Given the description of an element on the screen output the (x, y) to click on. 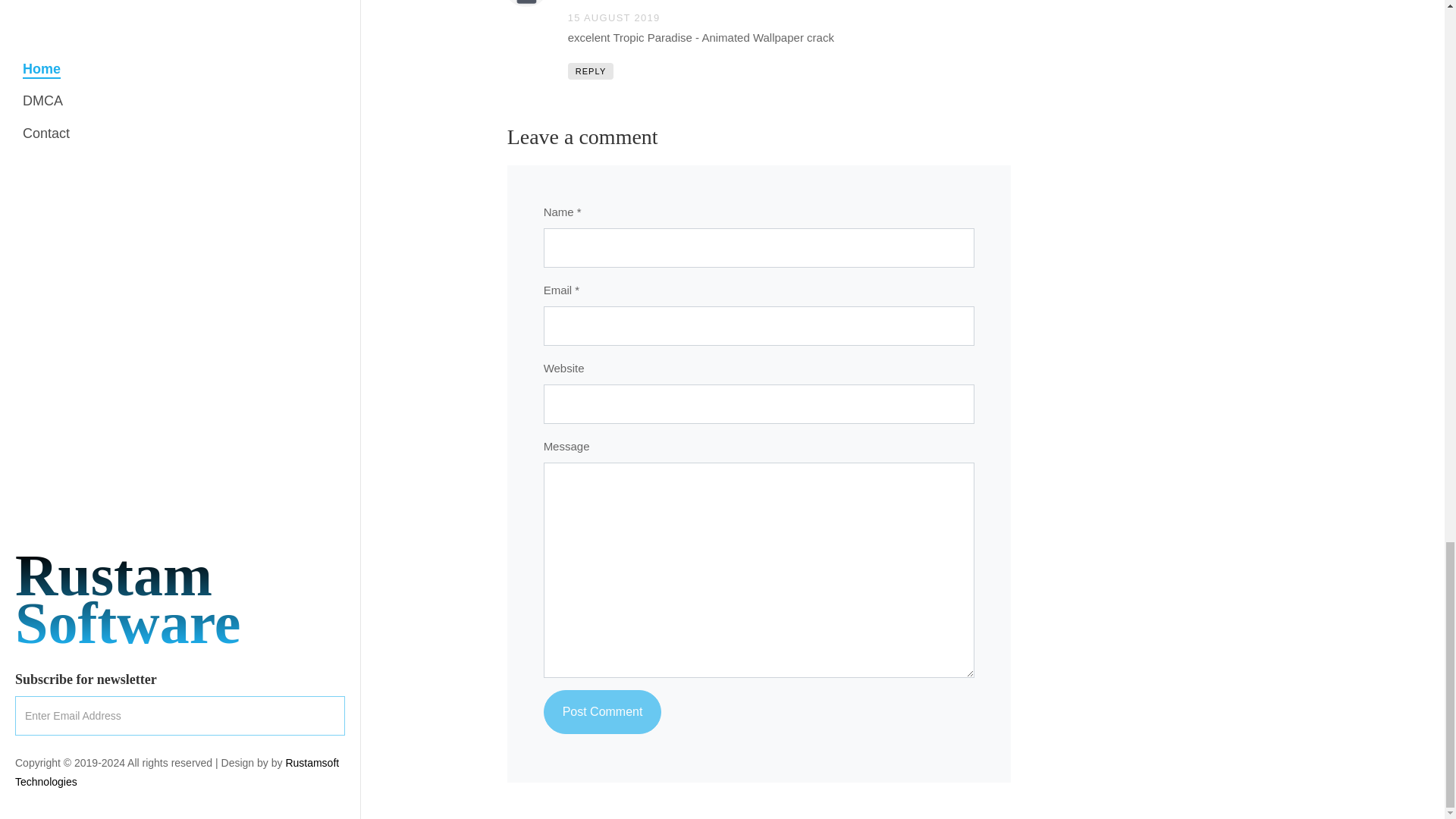
Post Comment (602, 711)
REPLY (590, 71)
Post Comment (602, 711)
